Given the description of an element on the screen output the (x, y) to click on. 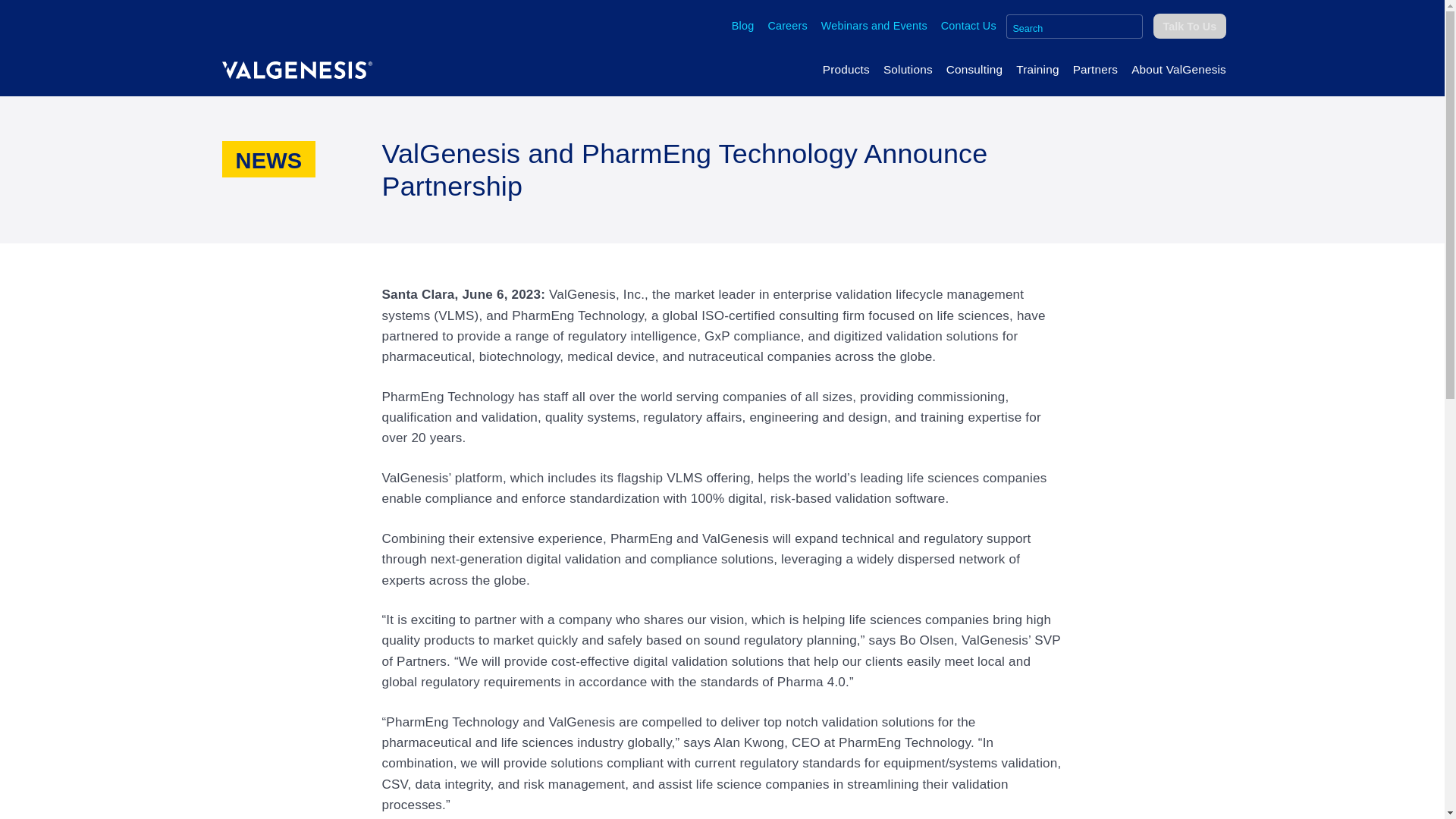
Webinars and Events (873, 26)
Blog (743, 26)
Solutions (907, 68)
Careers (786, 26)
Contact Us (968, 26)
Talk To Us (1189, 25)
Products (845, 68)
